Given the description of an element on the screen output the (x, y) to click on. 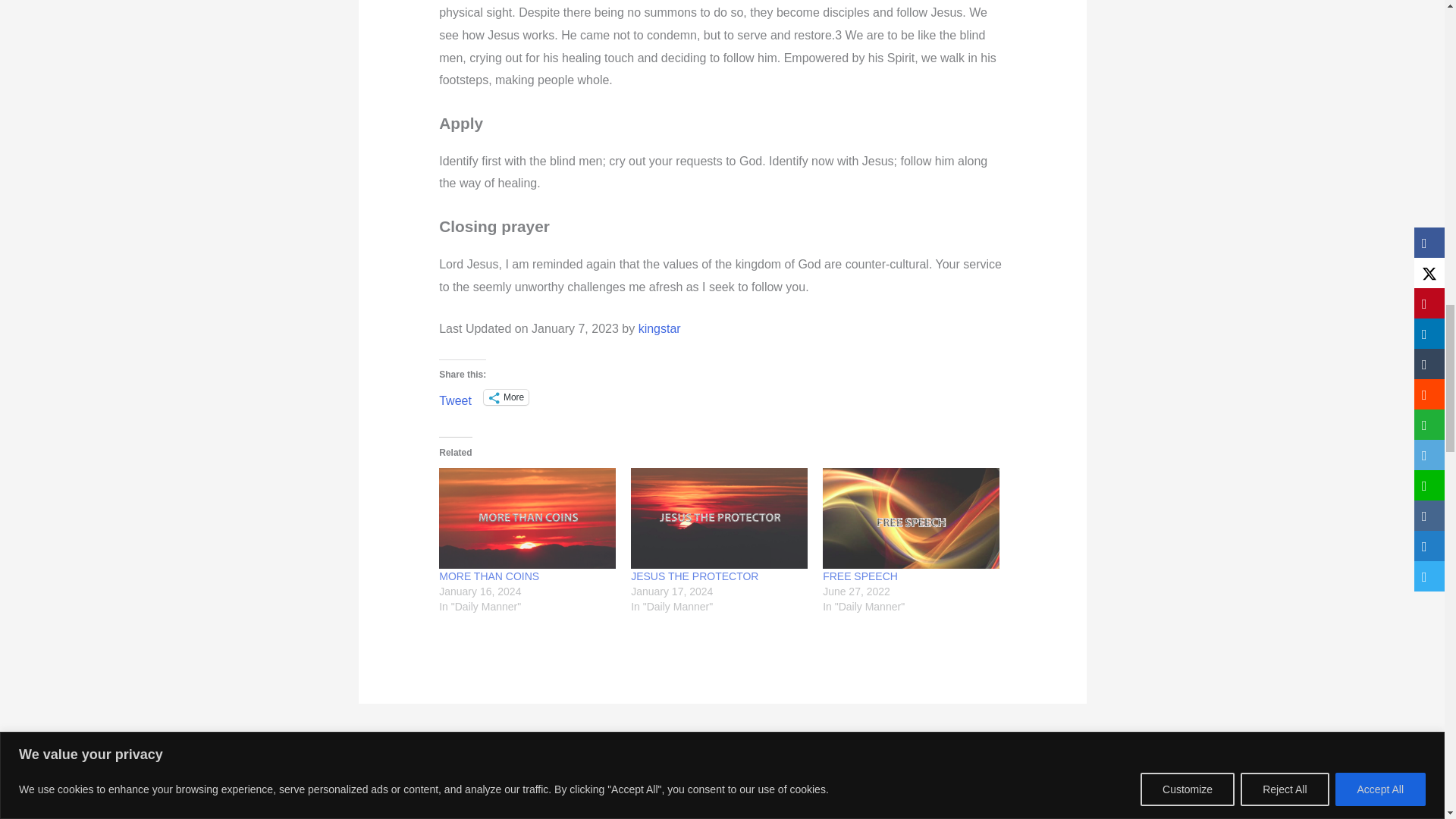
Tweet (455, 396)
More (505, 396)
JESUS THE PROTECTOR (719, 517)
MORE THAN COINS (527, 517)
JESUS THE PROTECTOR (694, 576)
BLACK HOLE TO PRAISE (1050, 743)
MORE THAN COINS (488, 576)
Easy Using a Classified Website for Advertisement (404, 743)
FREE SPEECH (910, 517)
FREE SPEECH (860, 576)
kingstar (660, 328)
